Given the description of an element on the screen output the (x, y) to click on. 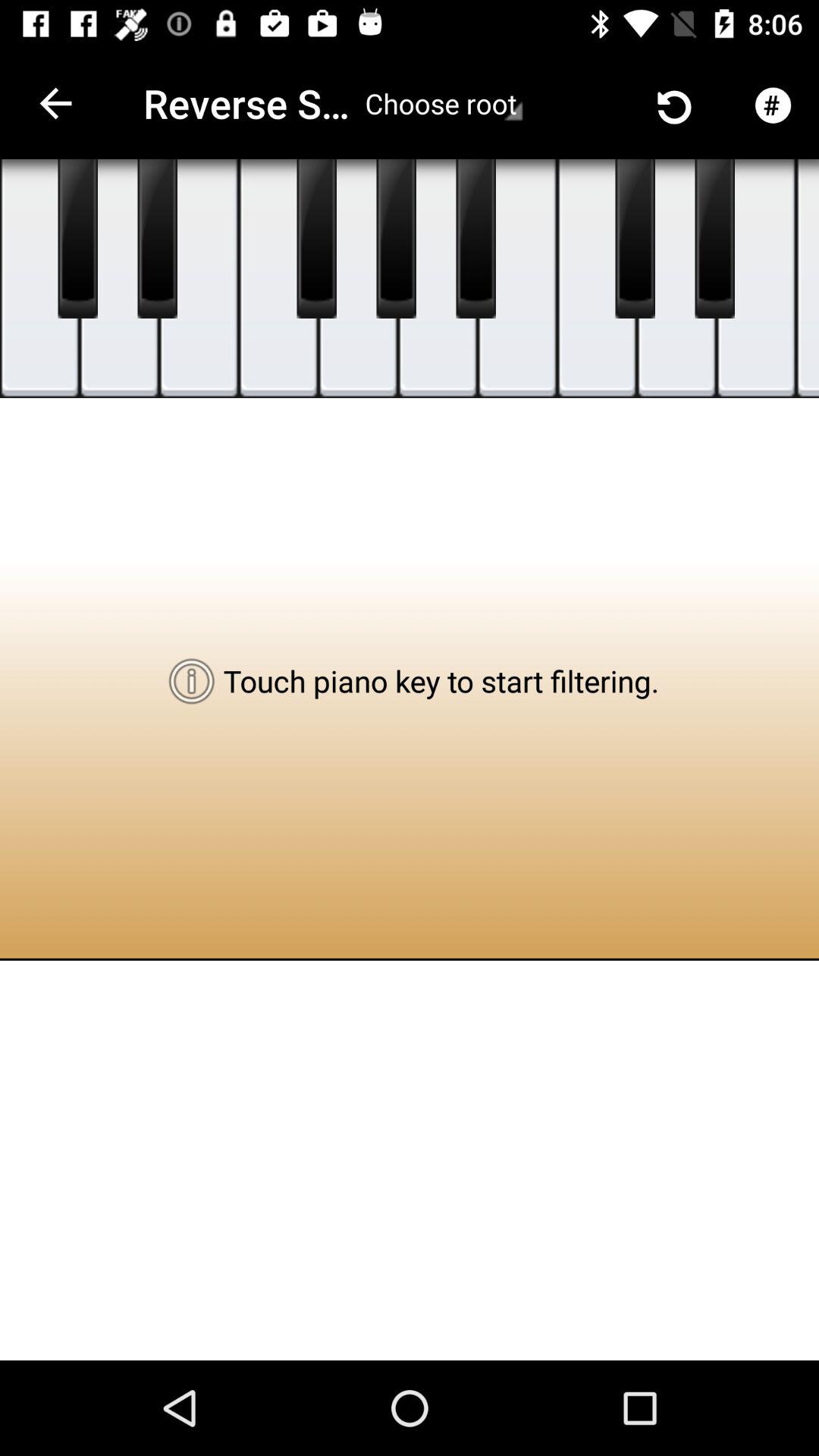
press key to play (316, 238)
